Given the description of an element on the screen output the (x, y) to click on. 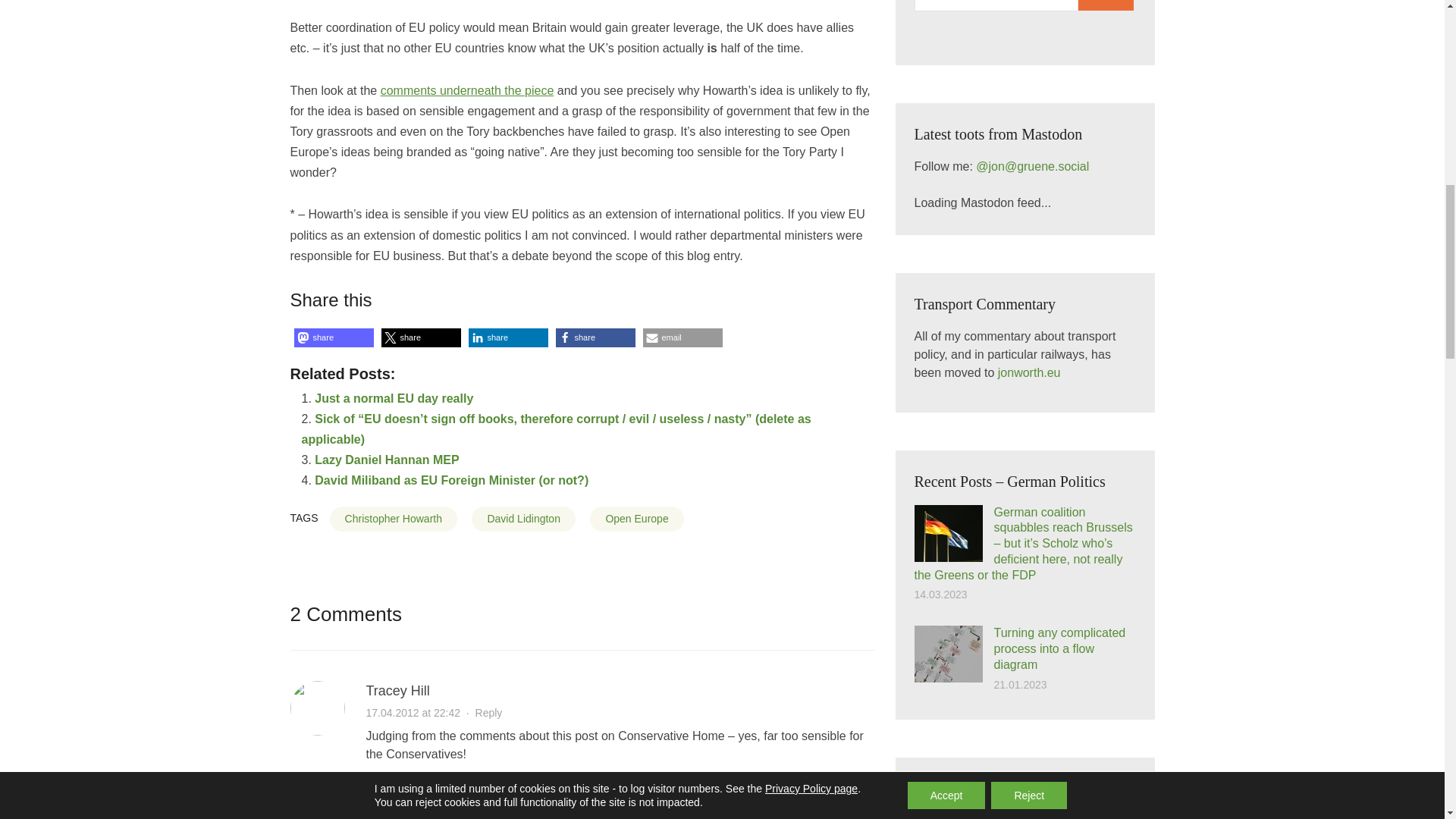
Share on Facebook (594, 337)
Share on Mastodon (334, 337)
Share on LinkedIn (508, 337)
Share on X (420, 337)
Send by email (682, 337)
Lazy Daniel Hannan MEP (386, 459)
Just a normal EU day really (393, 398)
Submit (1106, 5)
